Given the description of an element on the screen output the (x, y) to click on. 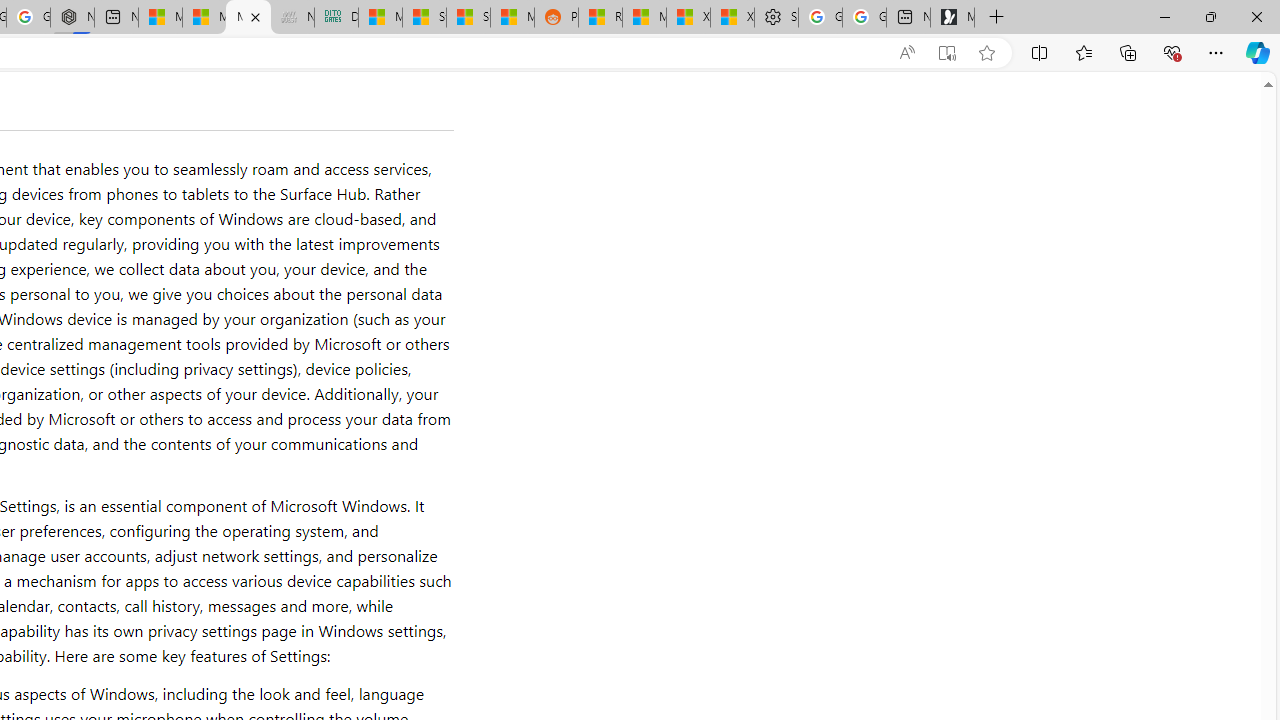
Microsoft Start Gaming (952, 17)
Navy Quest (292, 17)
Enter Immersive Reader (F9) (946, 53)
